Given the description of an element on the screen output the (x, y) to click on. 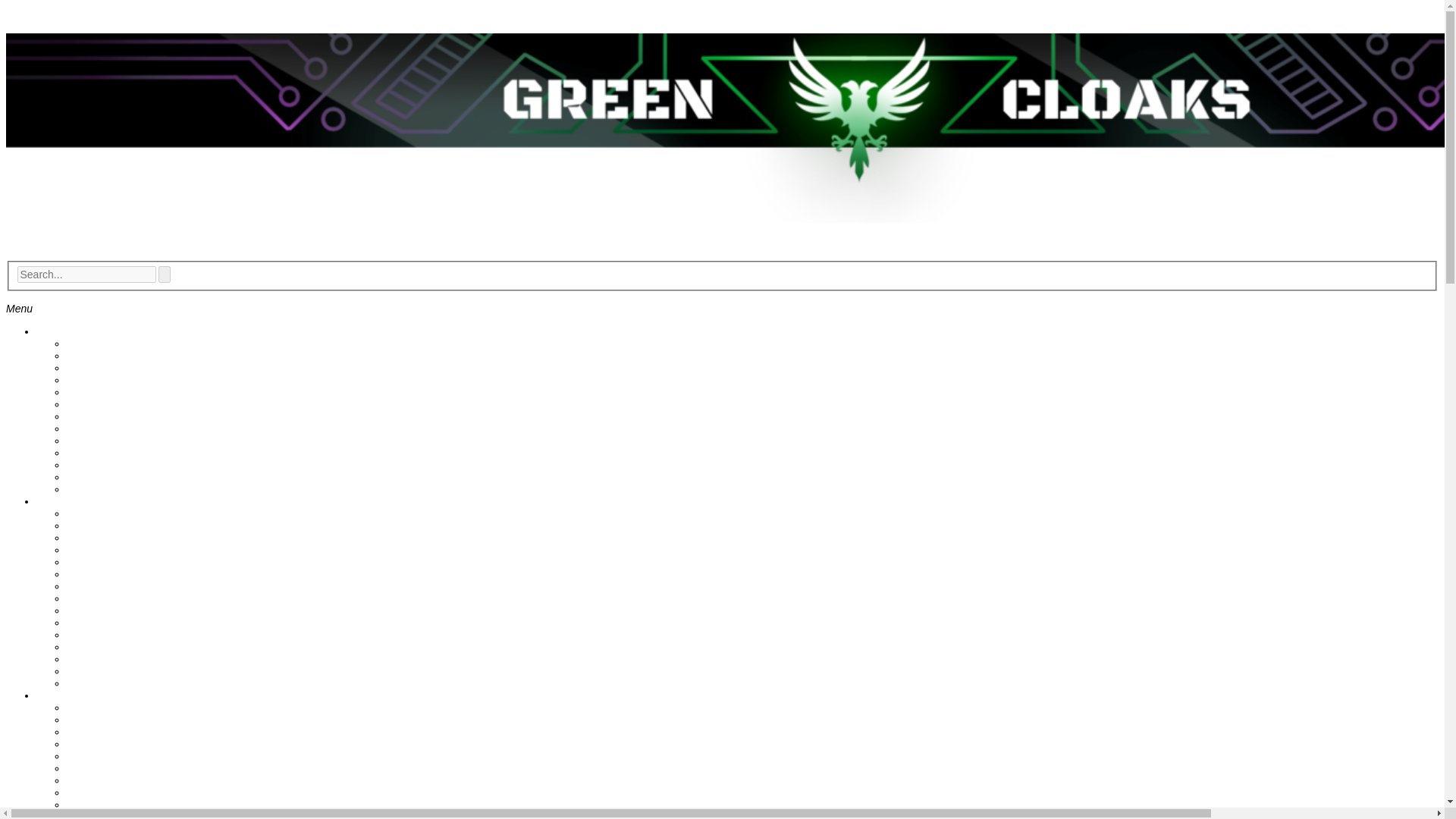
Skills (48, 695)
Rips (76, 416)
Non-Combatants (106, 464)
Teaching (87, 646)
Bulging Biceps (101, 731)
Explosives (91, 756)
Omega (83, 610)
Referees (88, 476)
IC and OOC Spaces (114, 489)
Lammies (88, 379)
Energy Shields (102, 573)
Backstab (88, 719)
Monstering (92, 391)
In and Out of Character (121, 355)
Safety (81, 367)
